Given the description of an element on the screen output the (x, y) to click on. 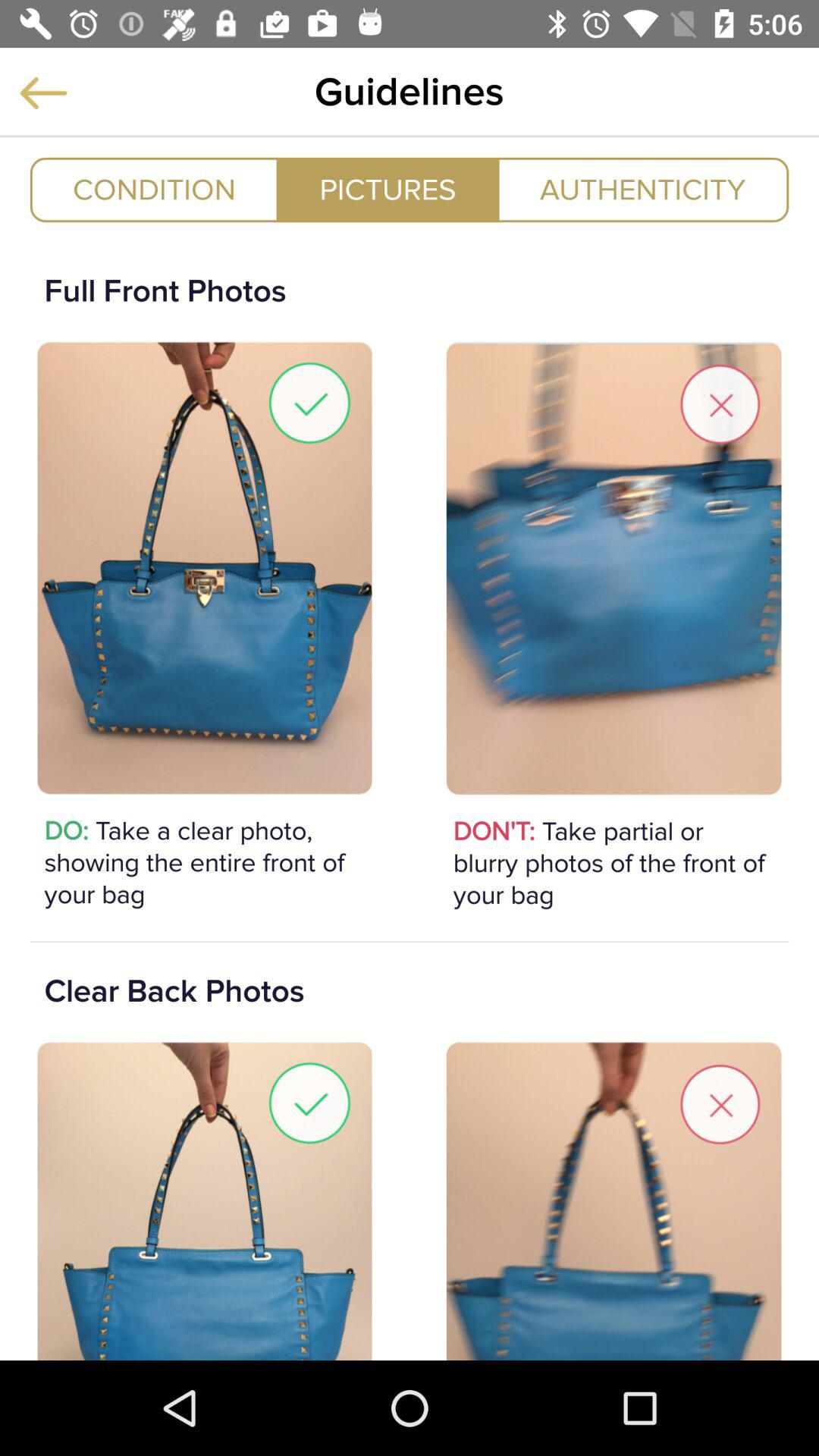
choose icon above the full front photos item (154, 189)
